Given the description of an element on the screen output the (x, y) to click on. 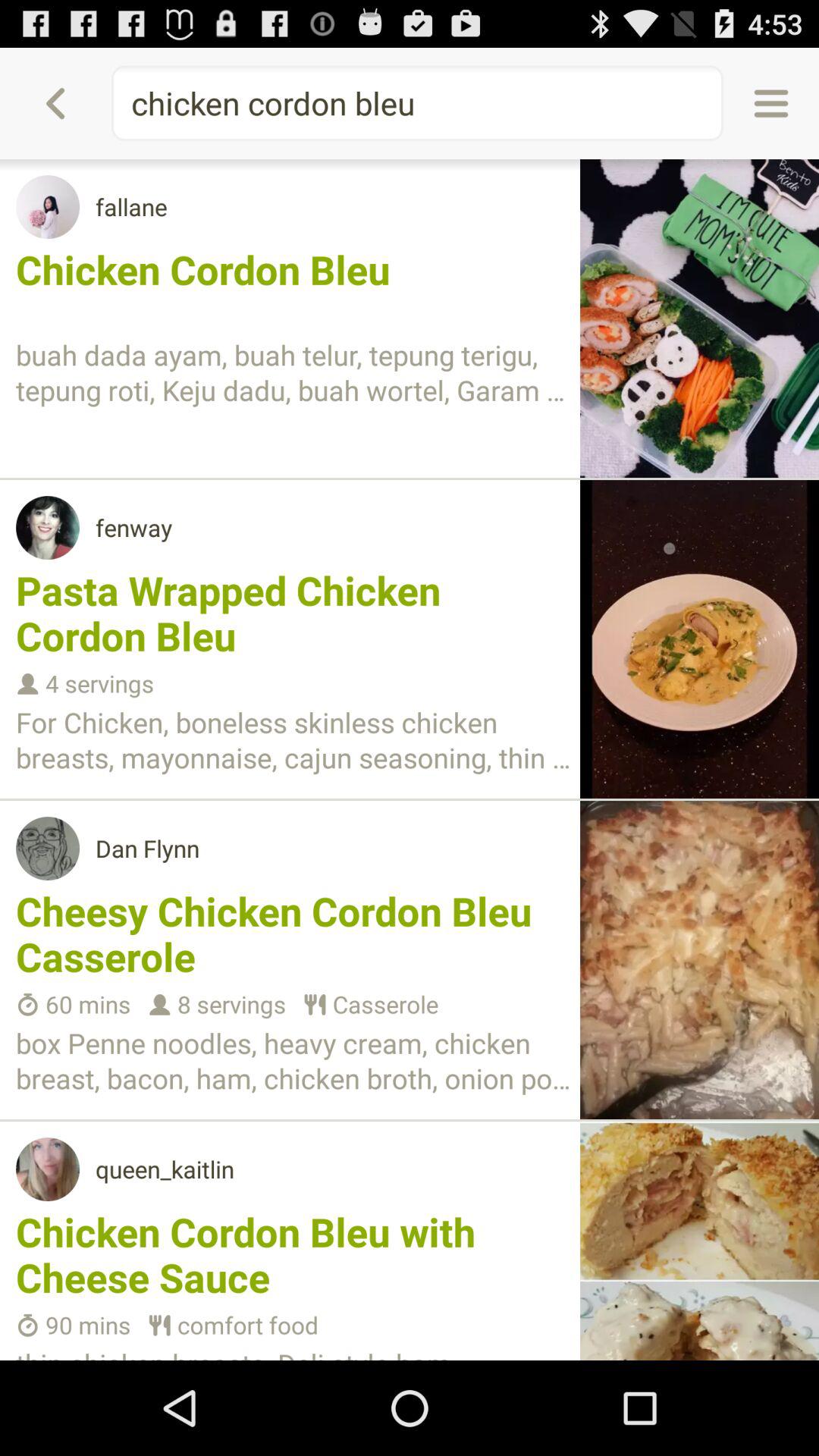
click icon to the left of chicken cordon bleu item (55, 103)
